Given the description of an element on the screen output the (x, y) to click on. 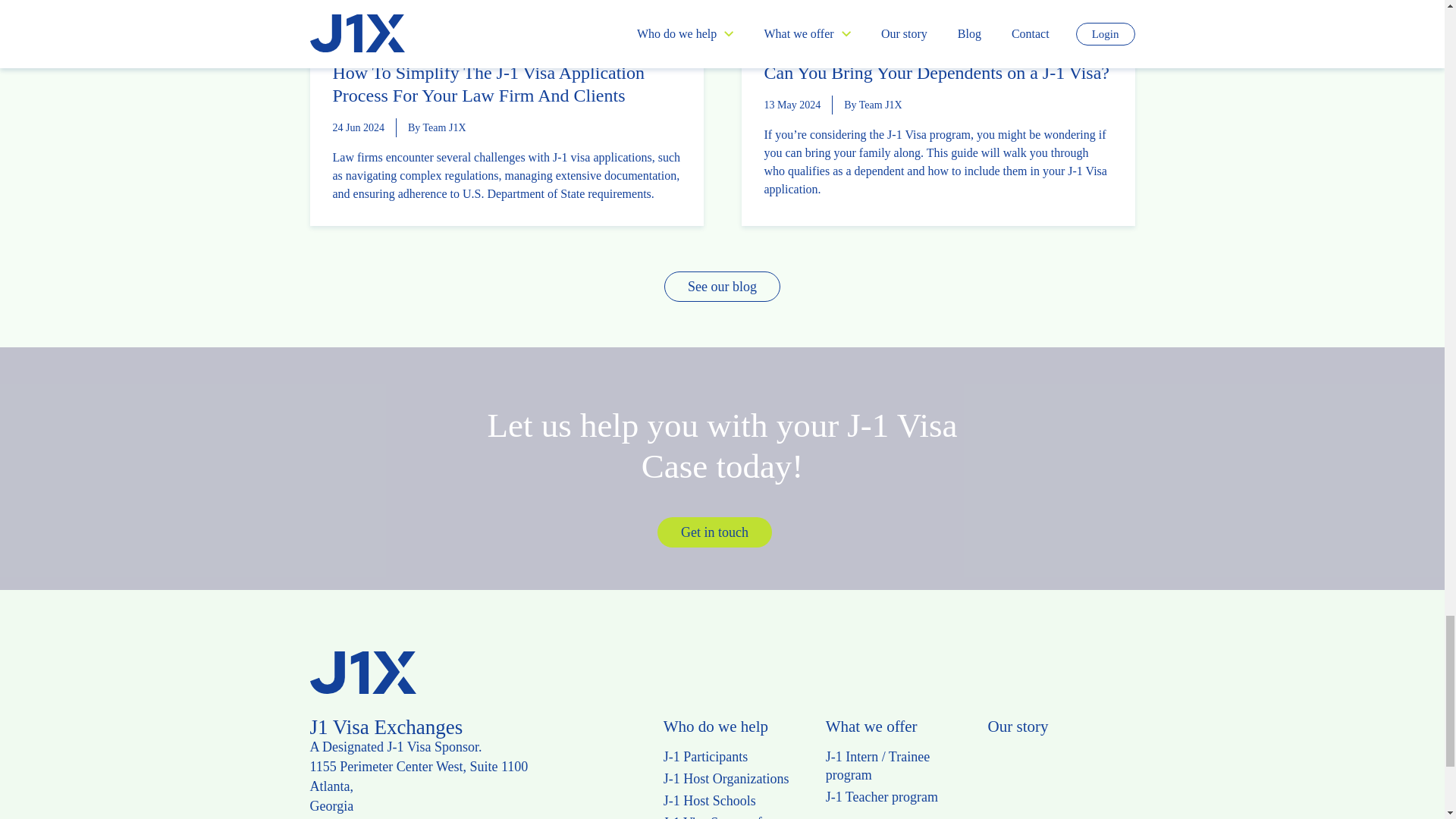
J1 VISA (355, 40)
J1 VISA APPLICATION (433, 40)
J1 DEPENDENTS (912, 40)
J1 VISA APPLICATION (1007, 40)
J1 VISA ATTORNEY (532, 40)
Can You Bring Your Dependents on a J-1 Visa? (936, 72)
CULTURAL EXCHANGE (815, 40)
